Given the description of an element on the screen output the (x, y) to click on. 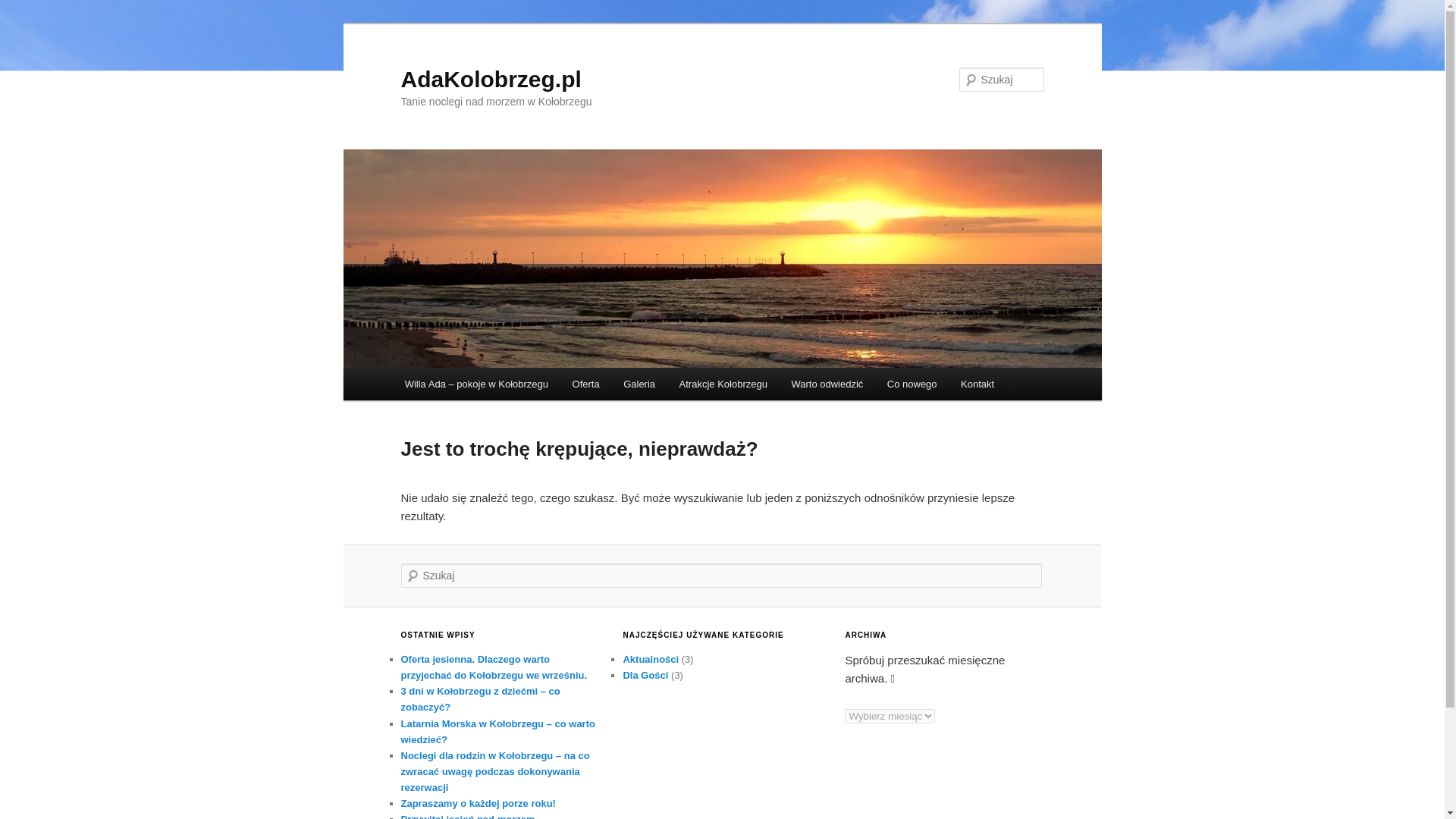
Oferta (585, 383)
Szukaj (23, 8)
Kontakt (977, 383)
Co nowego (912, 383)
AdaKolobrzeg.pl (490, 78)
Galeria (638, 383)
